Given the description of an element on the screen output the (x, y) to click on. 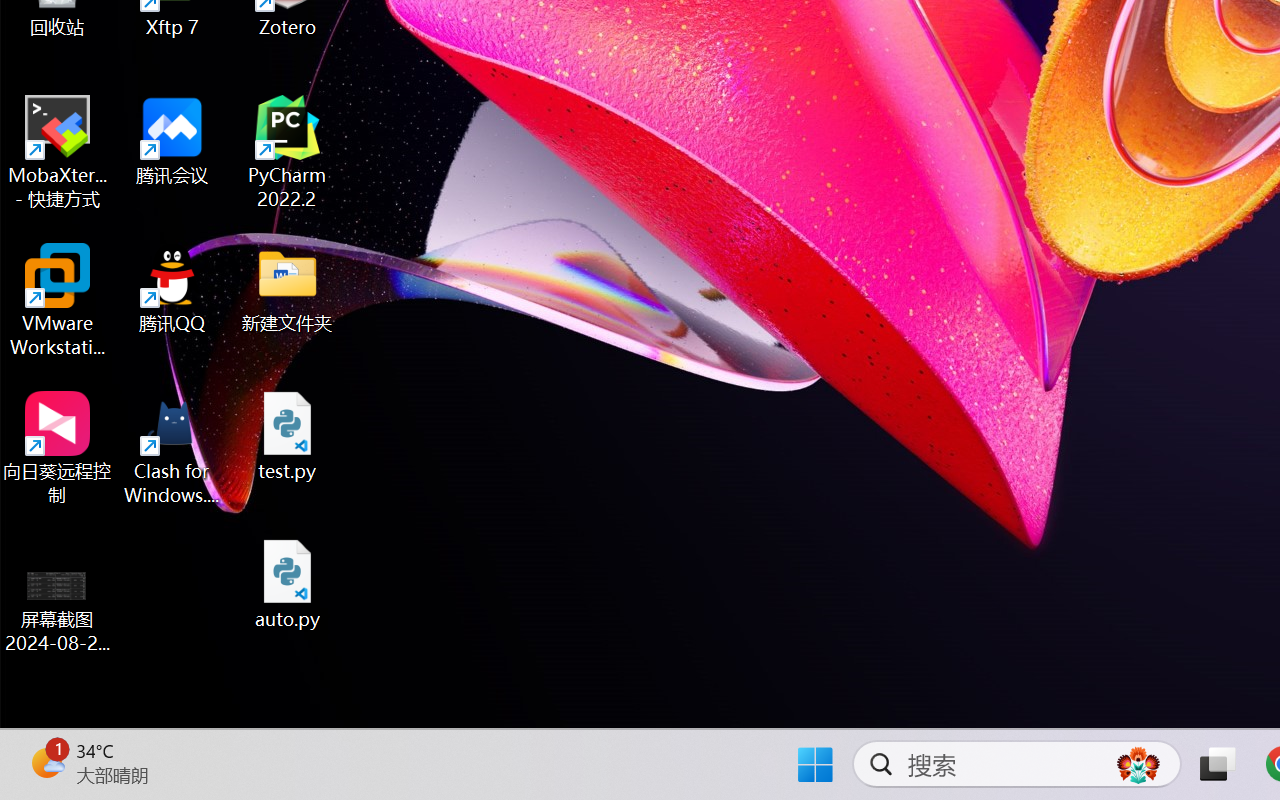
test.py (287, 436)
auto.py (287, 584)
